Given the description of an element on the screen output the (x, y) to click on. 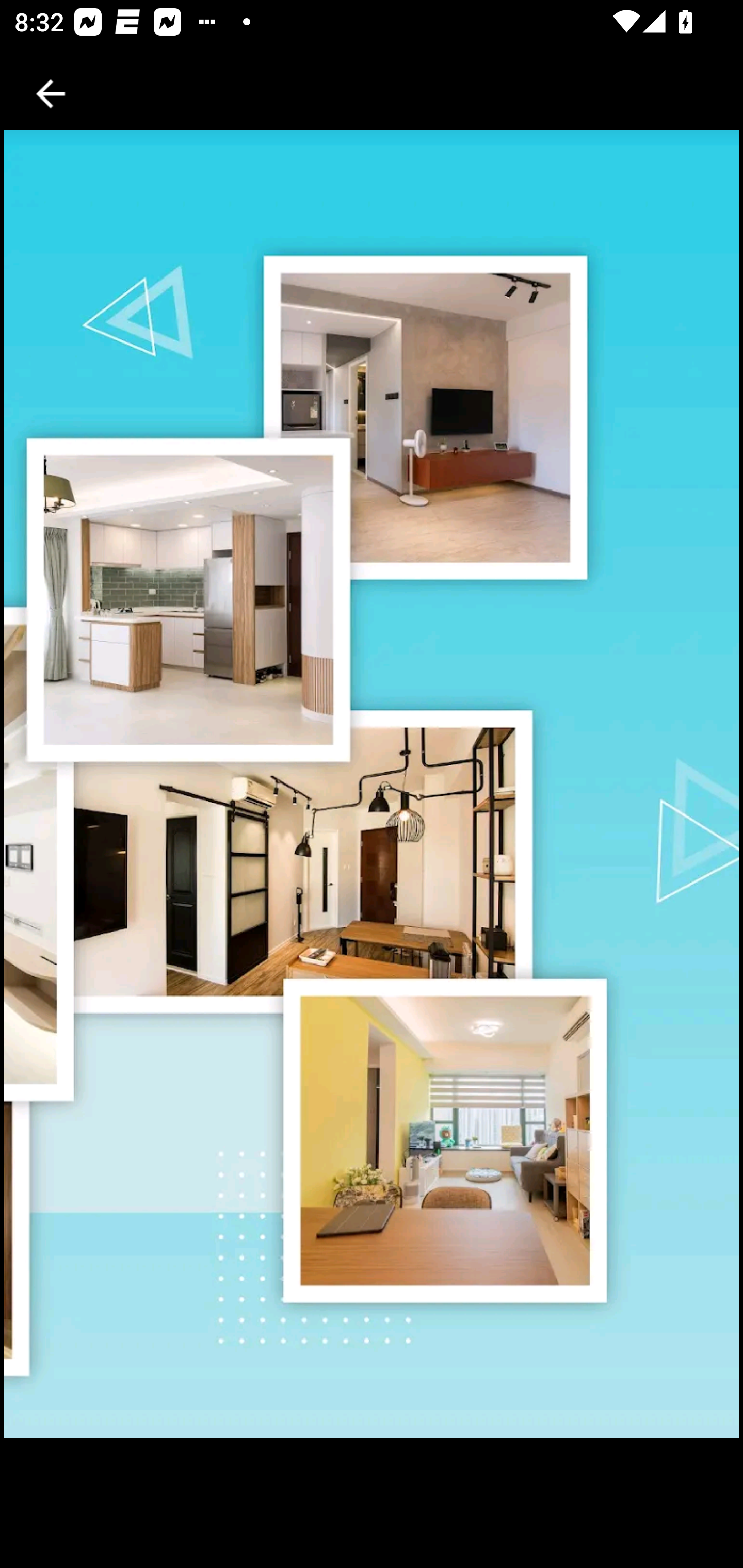
Back (50, 93)
